Given the description of an element on the screen output the (x, y) to click on. 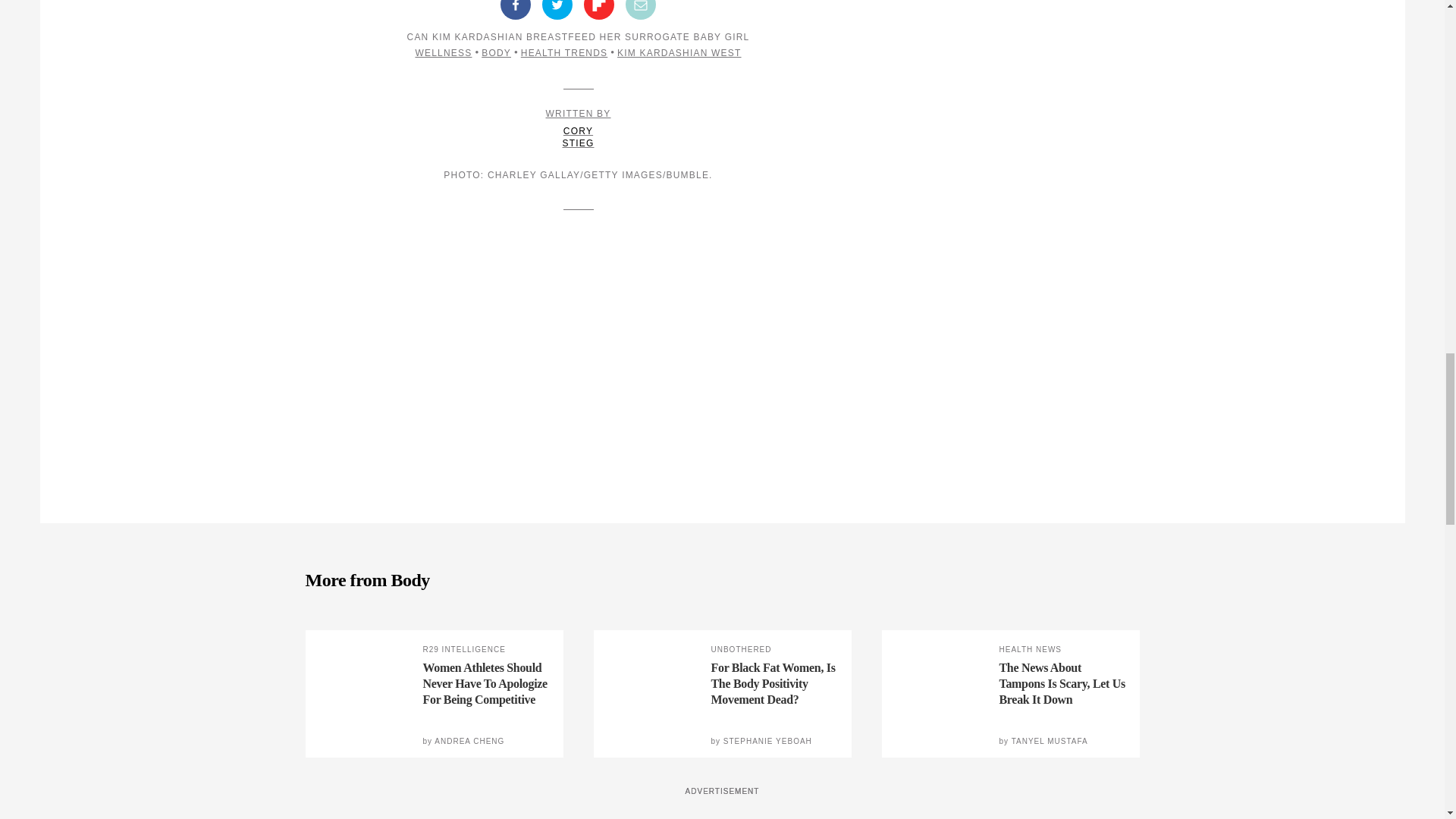
KIM KARDASHIAN WEST (679, 52)
Share on Twitter (556, 9)
BODY (496, 52)
Share on Flipboard (577, 128)
Share by Email (598, 9)
WELLNESS (641, 9)
HEALTH TRENDS (442, 52)
